Given the description of an element on the screen output the (x, y) to click on. 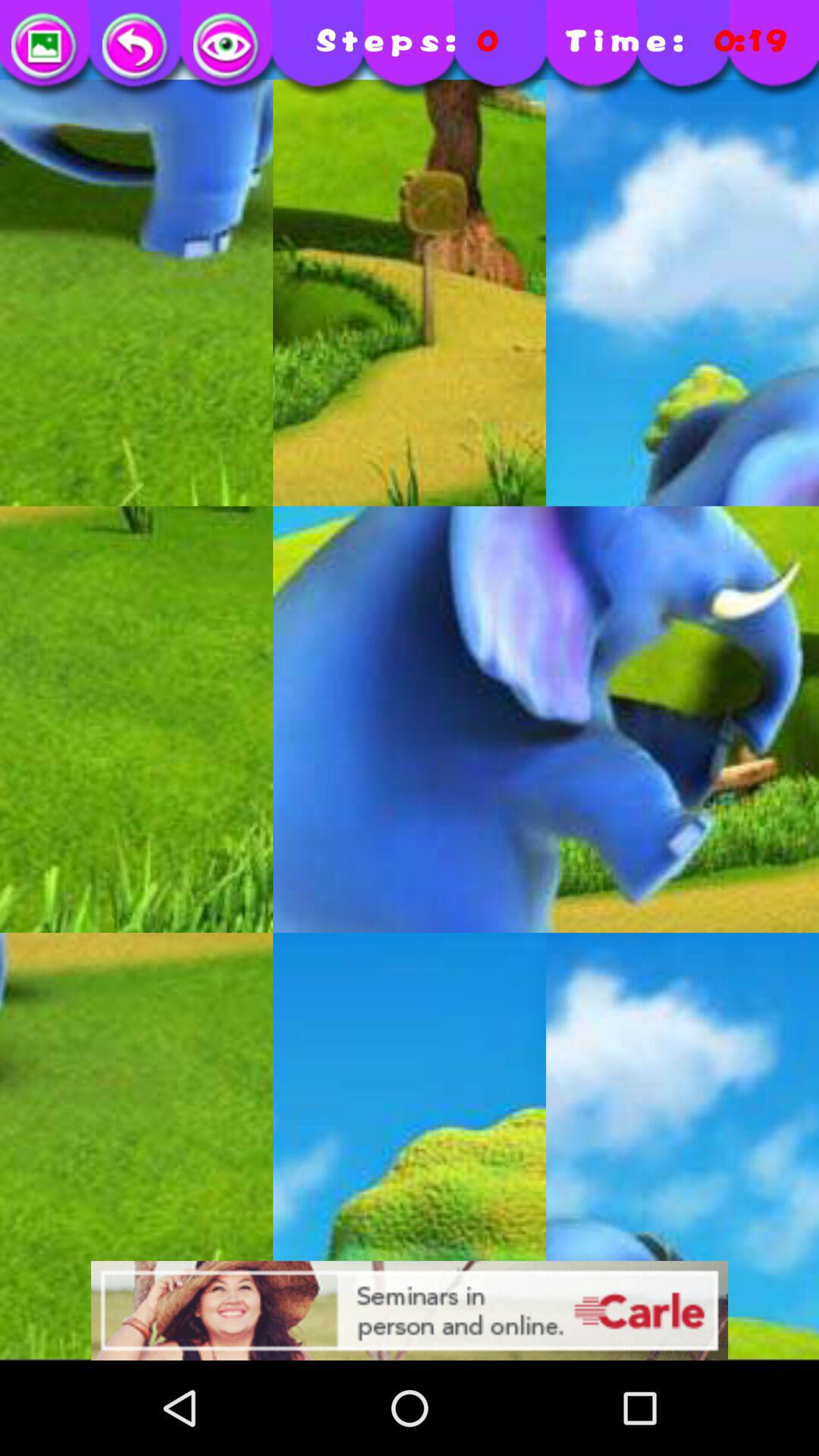
view as others view (227, 47)
